Given the description of an element on the screen output the (x, y) to click on. 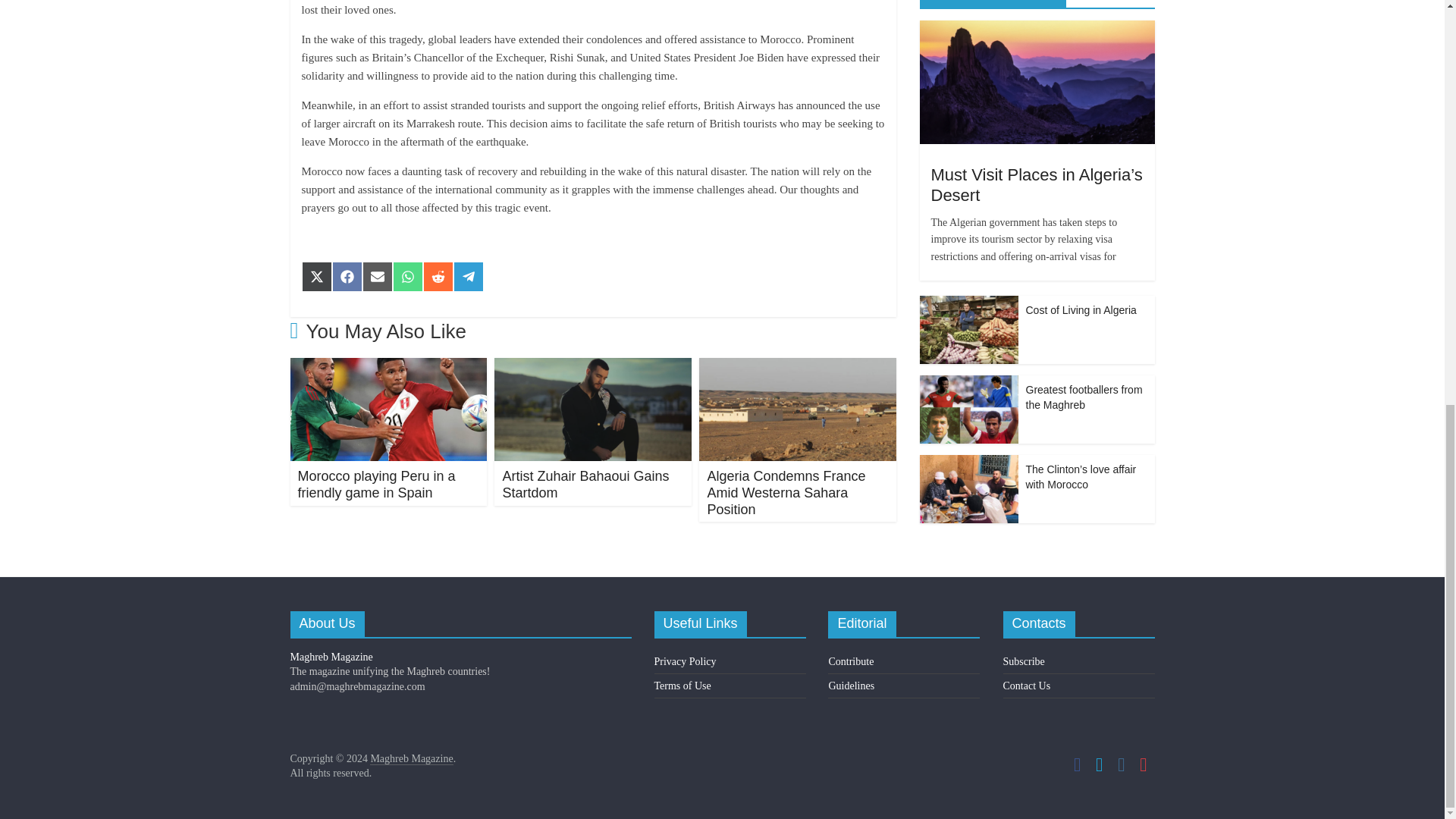
Morocco playing Peru in a friendly game in Spain (375, 484)
Artist Zuhair Bahaoui Gains Startdom (585, 484)
Share on Telegram (467, 276)
Share on Facebook (346, 276)
Artist Zuhair Bahaoui Gains Startdom (585, 484)
Algeria Condemns France Amid Westerna Sahara Position (797, 367)
Share on Reddit (437, 276)
Share on WhatsApp (408, 276)
Share on Email (377, 276)
Morocco playing Peru in a friendly game in Spain (375, 484)
